Given the description of an element on the screen output the (x, y) to click on. 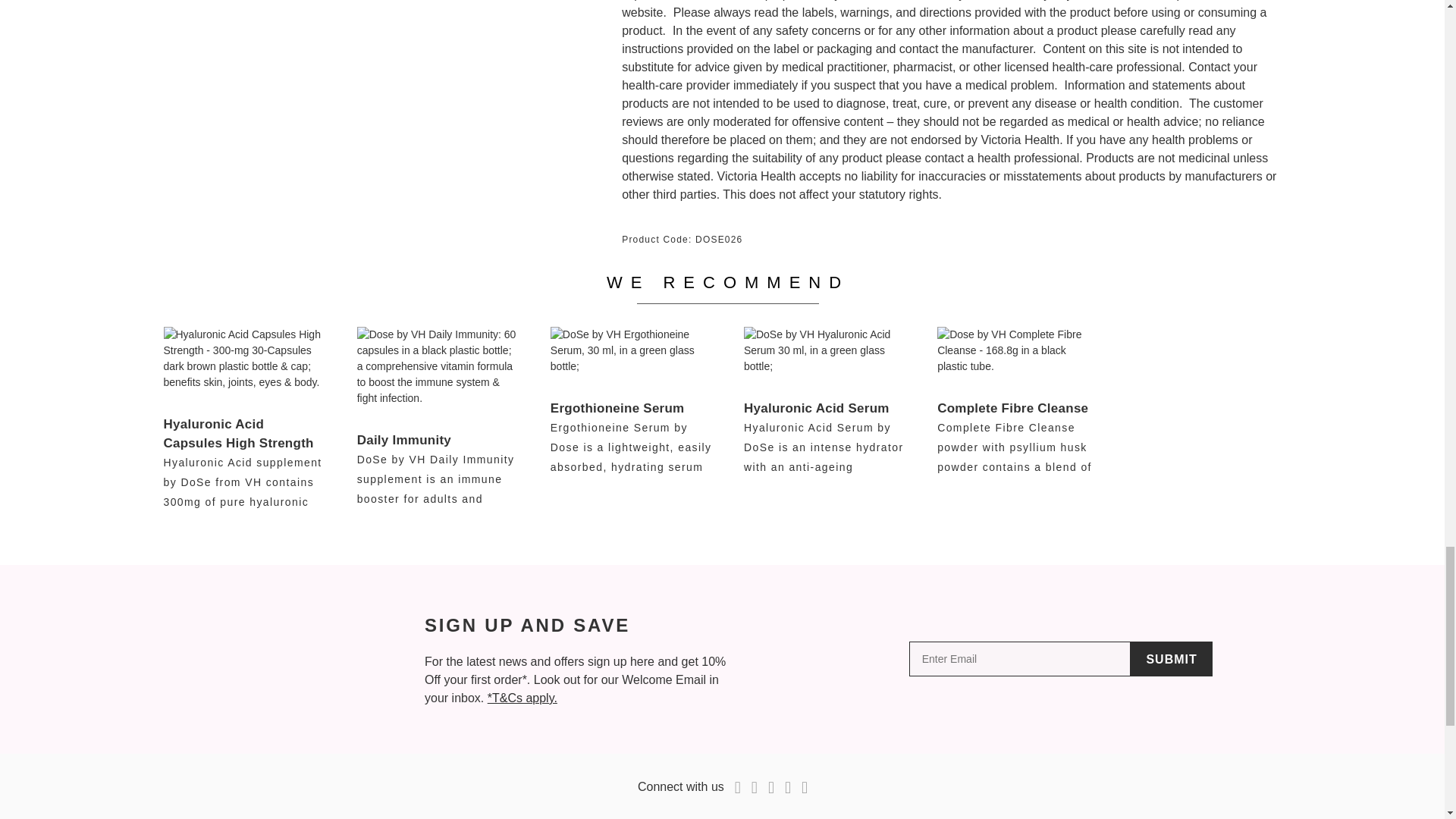
Submit (1171, 658)
